Given the description of an element on the screen output the (x, y) to click on. 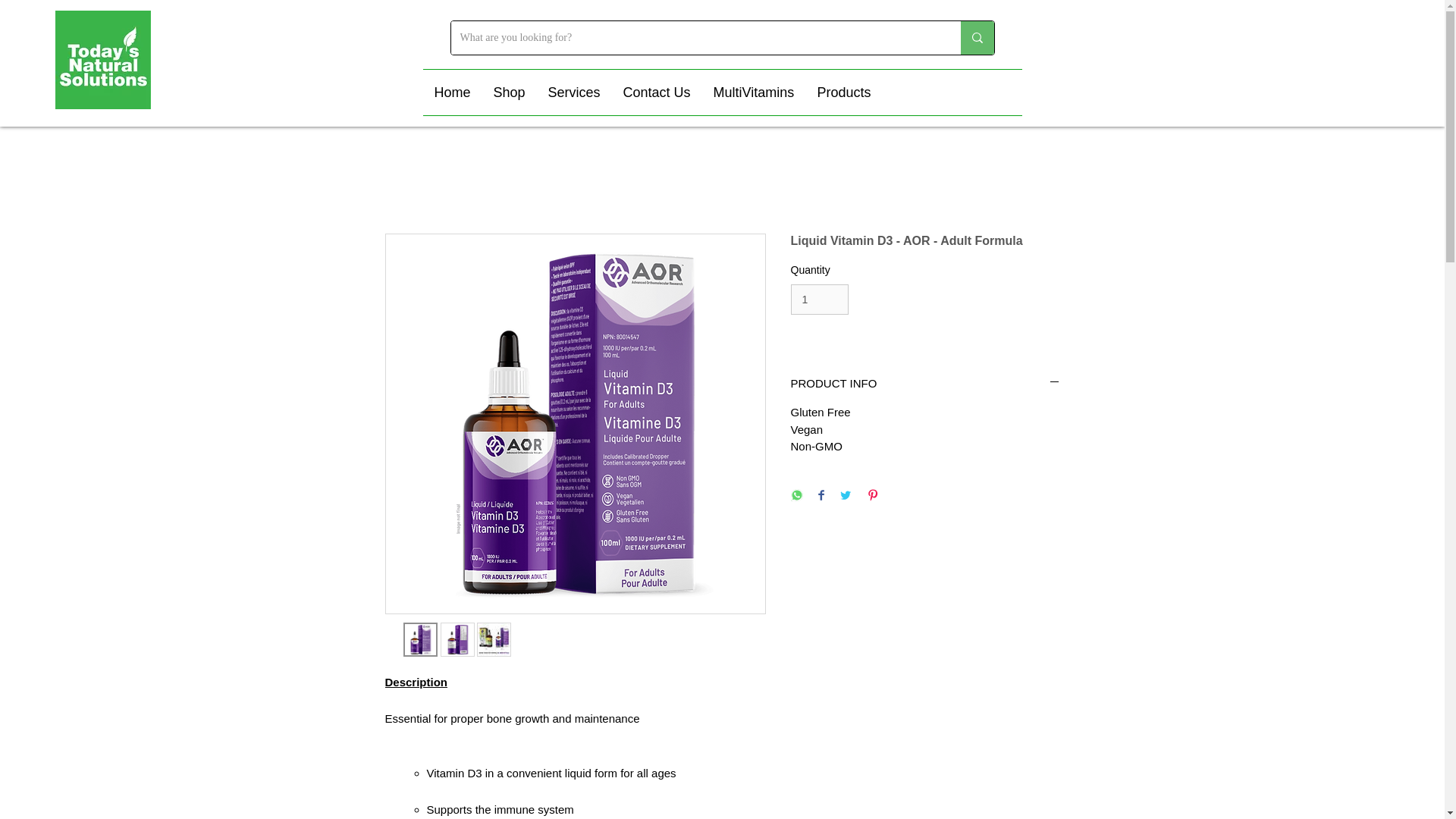
1 (818, 299)
Products (843, 92)
Services (574, 92)
Home (452, 92)
MultiVitamins (753, 92)
PRODUCT INFO (924, 383)
Contact Us (656, 92)
